Given the description of an element on the screen output the (x, y) to click on. 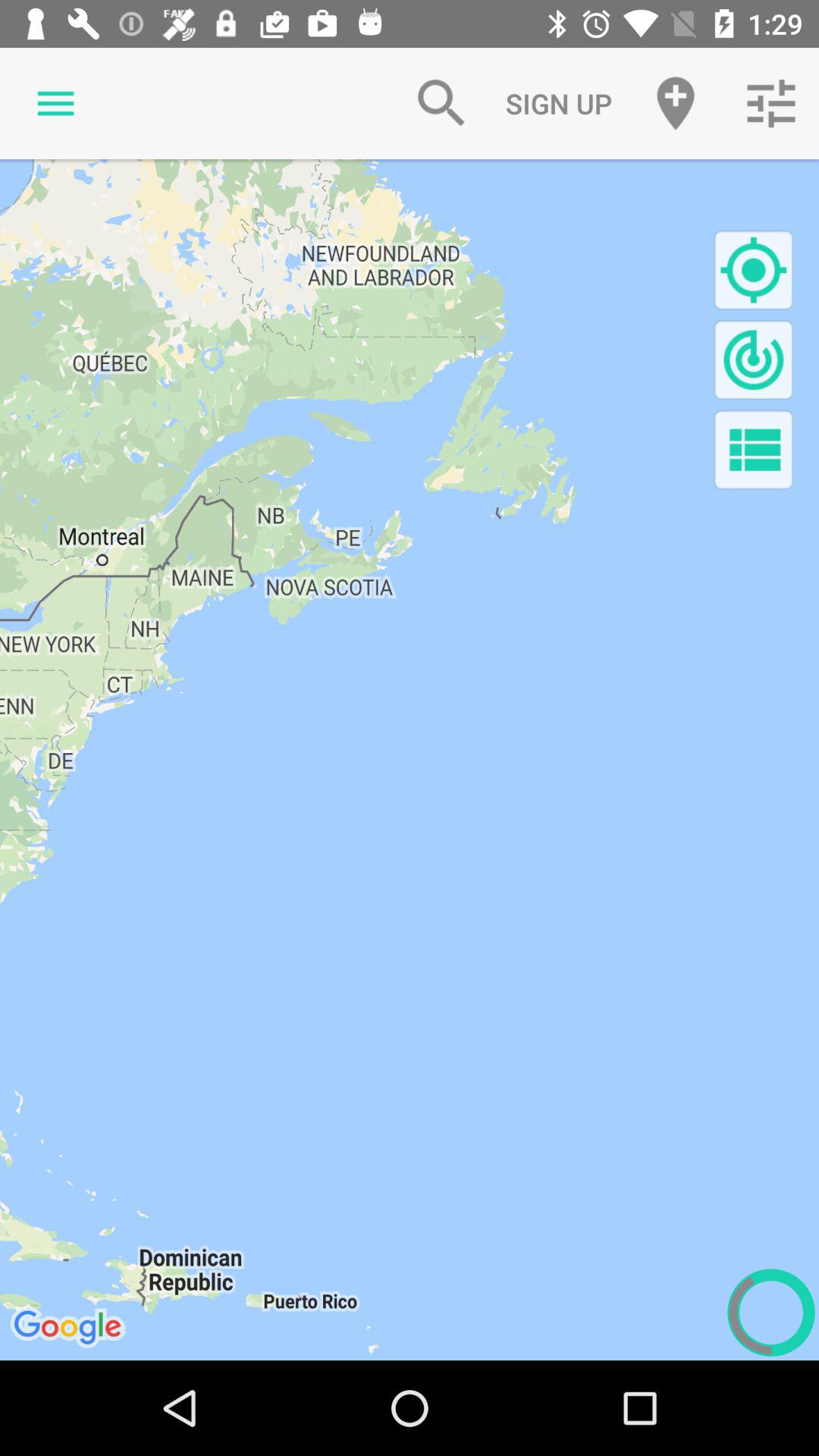
show list button (753, 449)
